Given the description of an element on the screen output the (x, y) to click on. 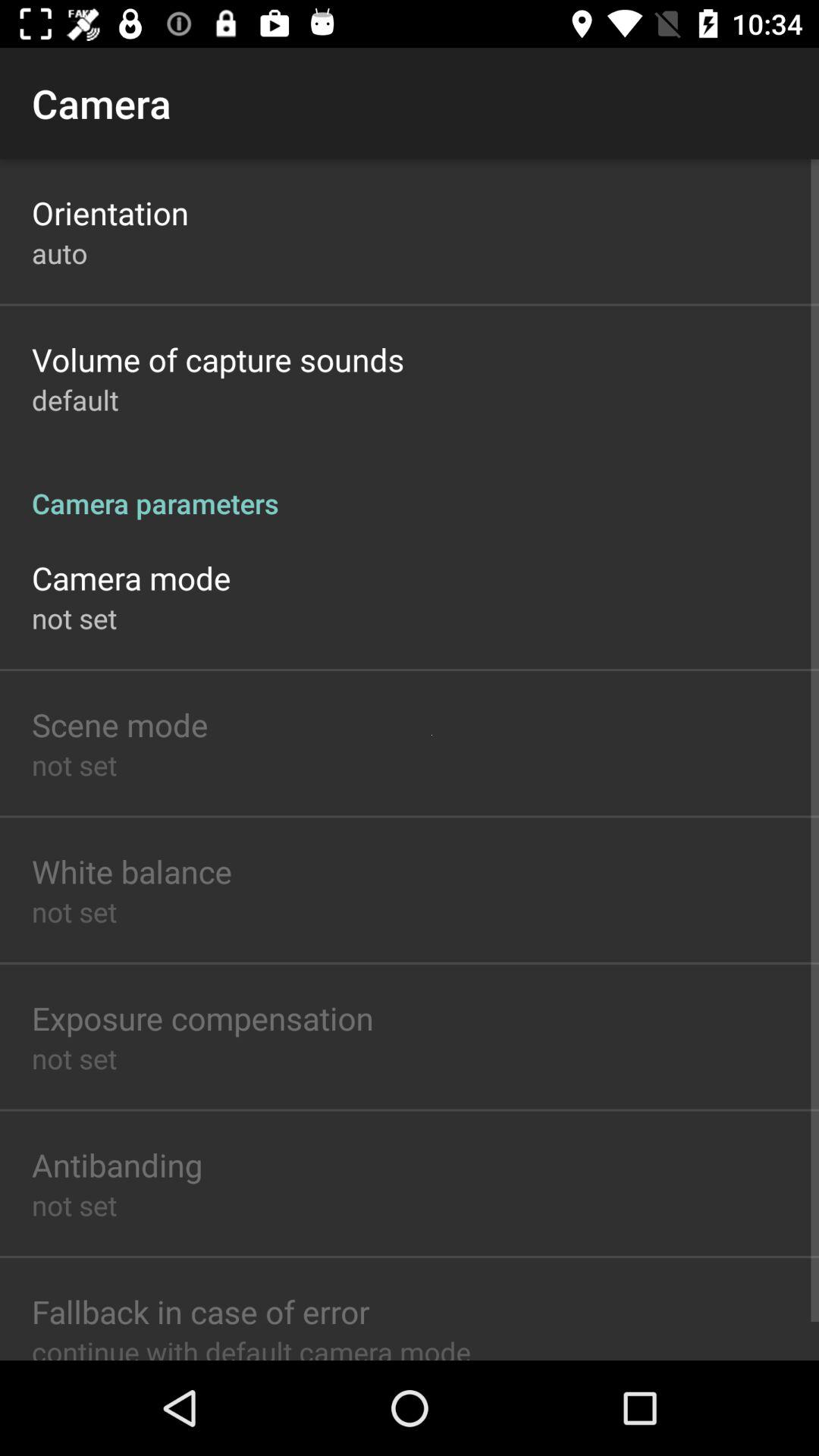
turn off the fallback in case app (200, 1311)
